Given the description of an element on the screen output the (x, y) to click on. 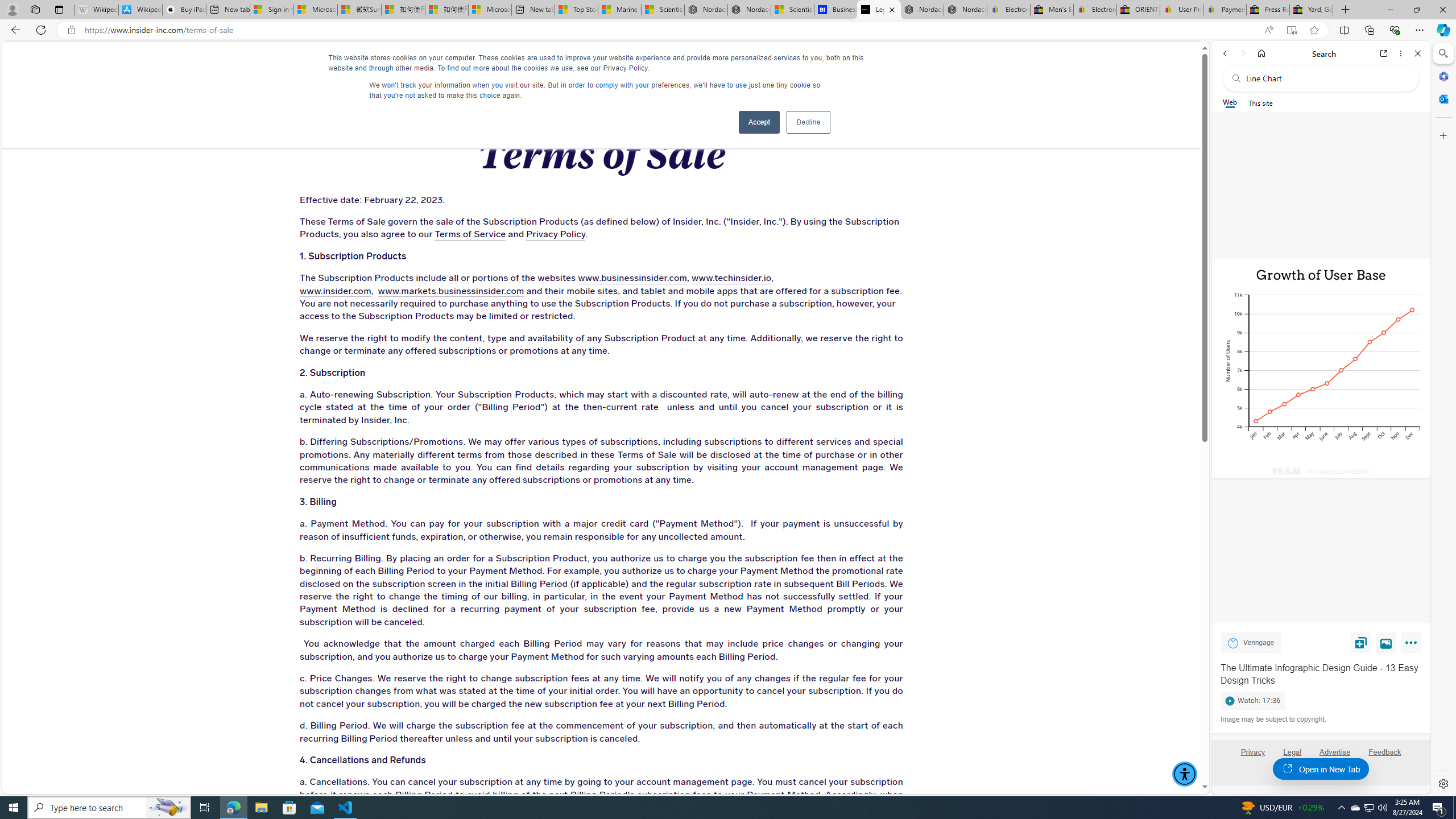
CAREERS (830, 62)
Accessibility Menu (1184, 773)
www.insider.com (334, 291)
Press Room - eBay Inc. (1267, 9)
Marine life - MSN (619, 9)
